Given the description of an element on the screen output the (x, y) to click on. 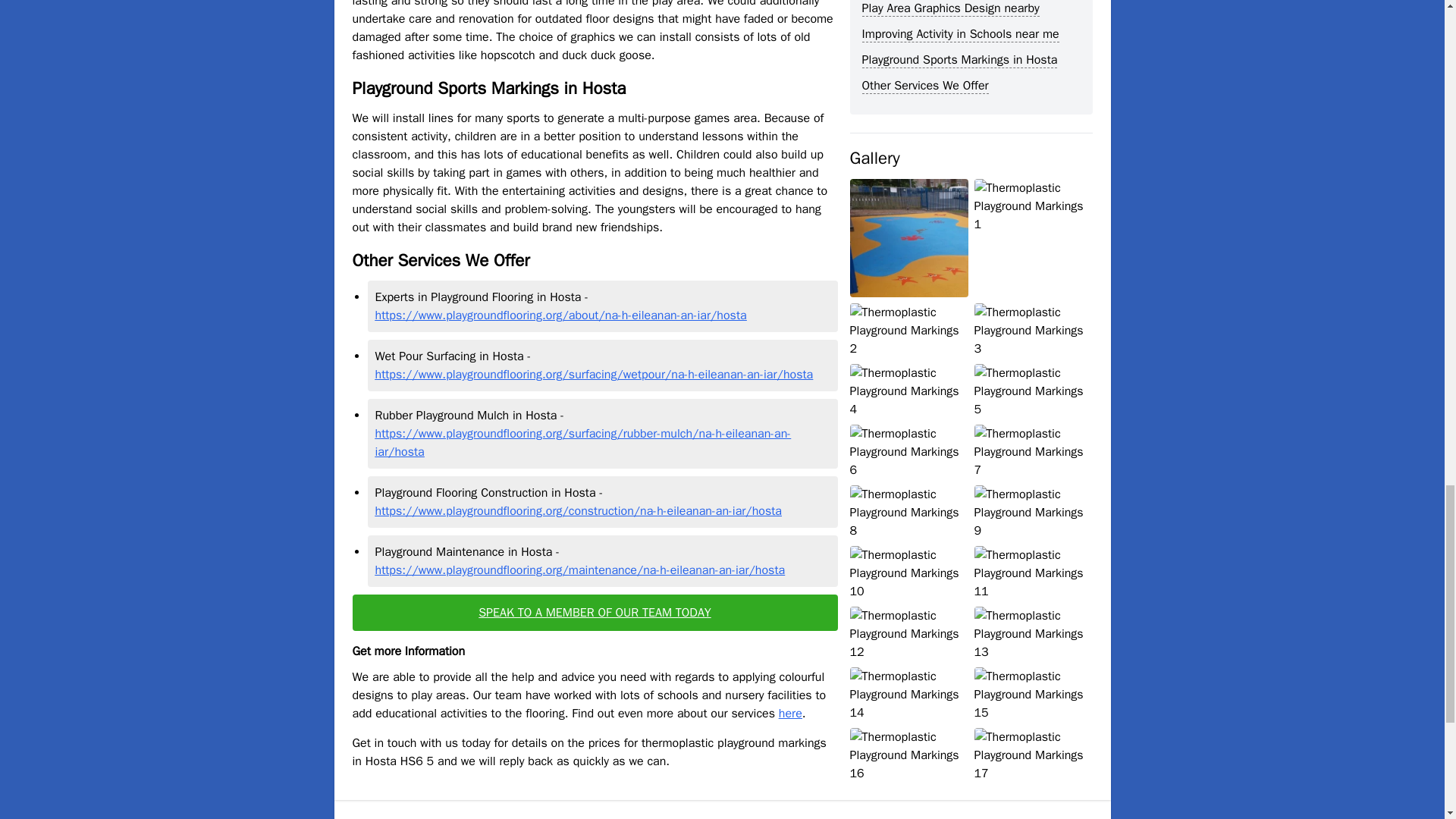
SPEAK TO A MEMBER OF OUR TEAM TODAY (594, 612)
